Given the description of an element on the screen output the (x, y) to click on. 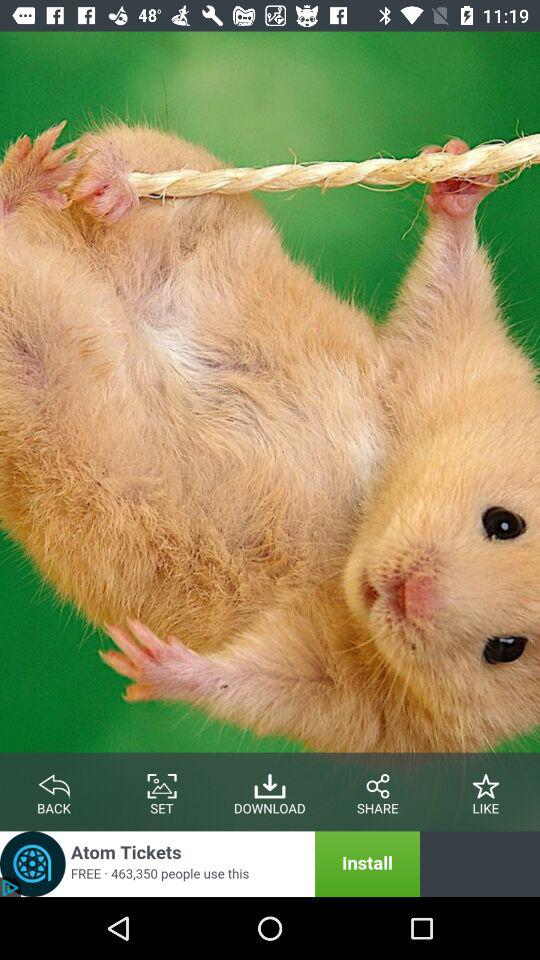
open advertisement (210, 864)
